Given the description of an element on the screen output the (x, y) to click on. 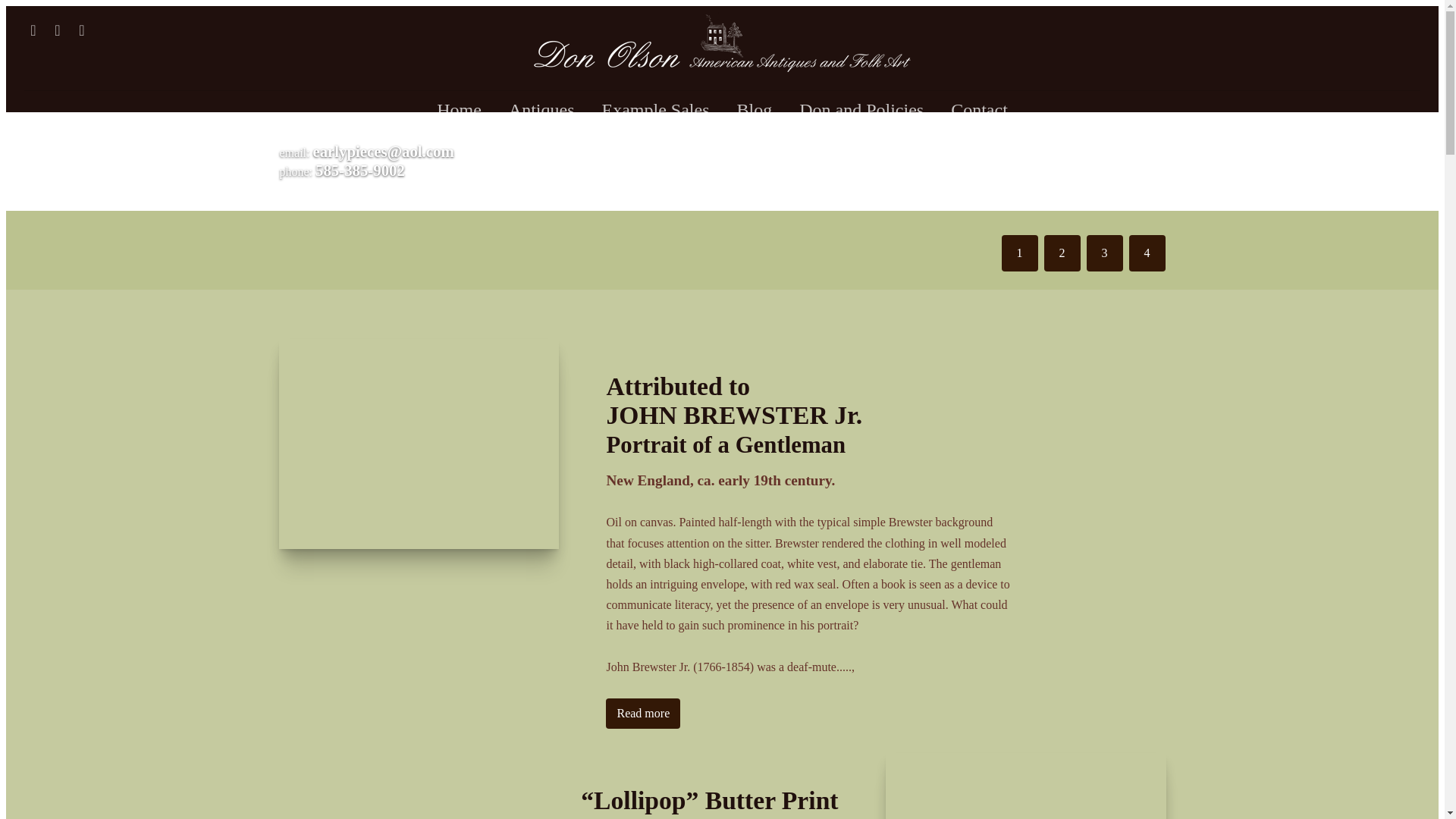
4 (1146, 253)
Contact (979, 110)
3 (1104, 253)
Blog (753, 110)
Home (459, 110)
Don and Policies (861, 110)
Example Sales (655, 110)
2 (1061, 253)
Read more (642, 713)
1 (1018, 253)
